Given the description of an element on the screen output the (x, y) to click on. 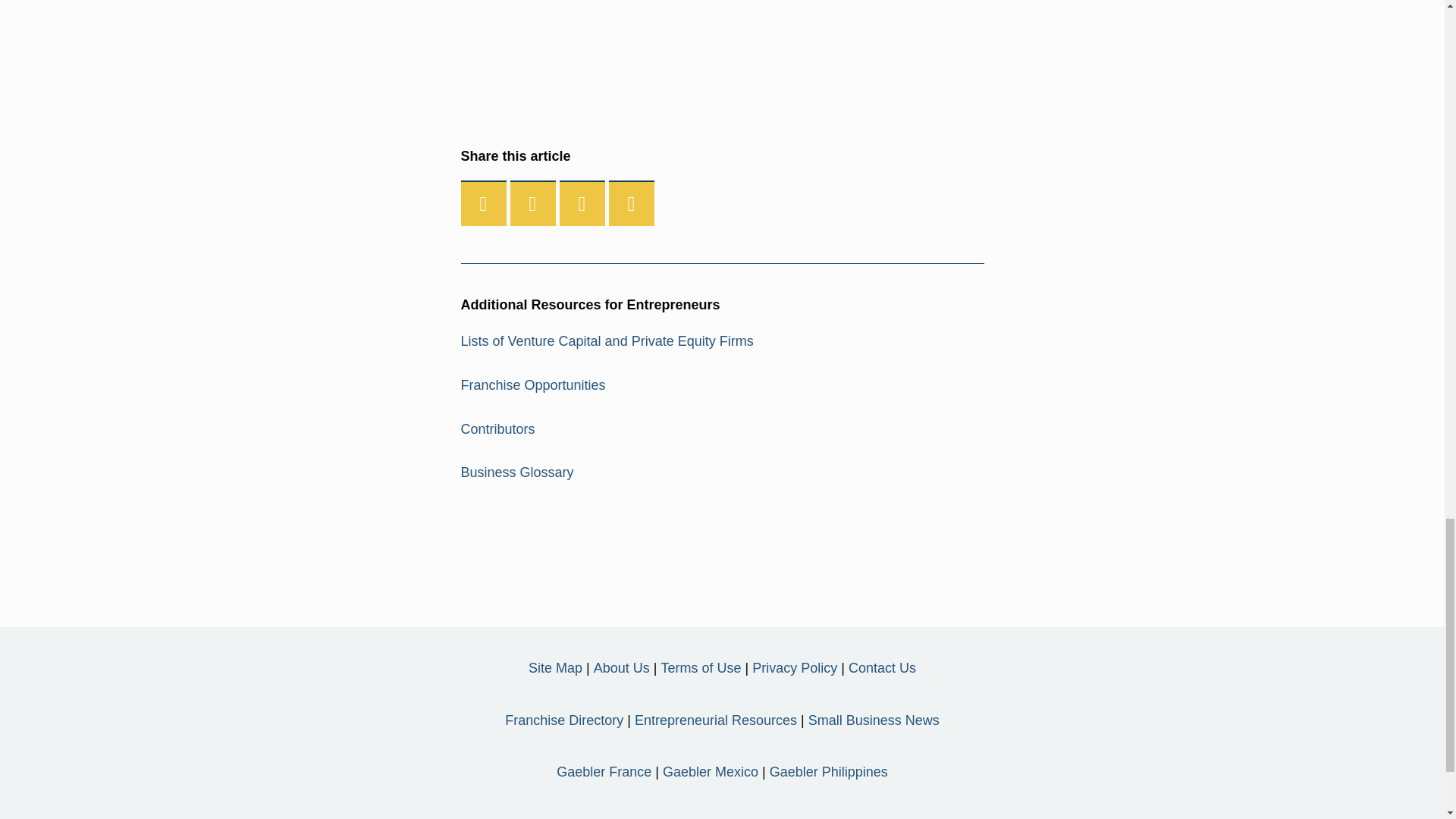
Email (630, 203)
Linkedin (582, 203)
Twitter (533, 203)
Facebook (483, 203)
